Given the description of an element on the screen output the (x, y) to click on. 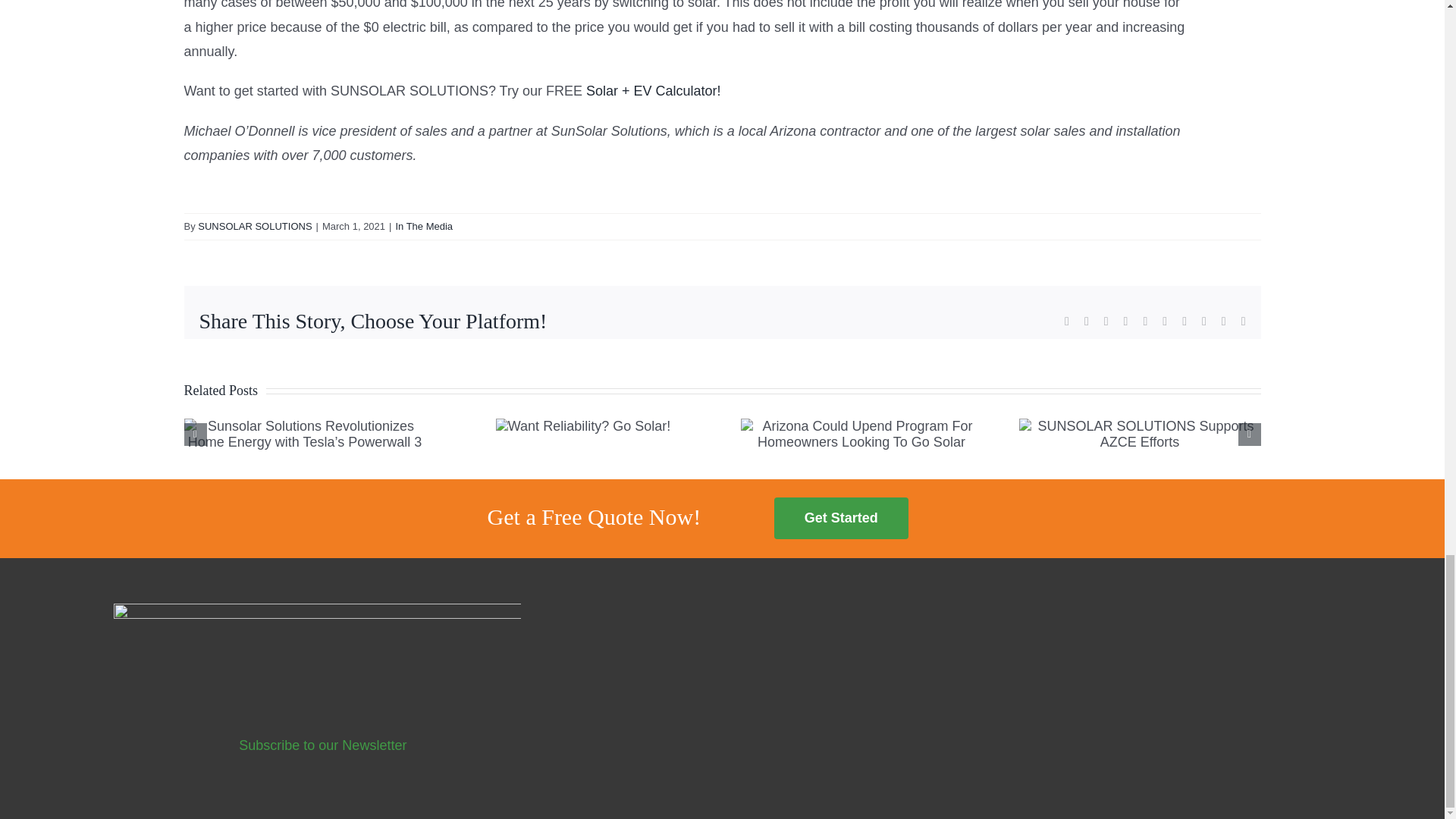
In The Media (423, 225)
SUNSOLAR SOLUTIONS (254, 225)
Posts by SUNSOLAR SOLUTIONS (254, 225)
